Given the description of an element on the screen output the (x, y) to click on. 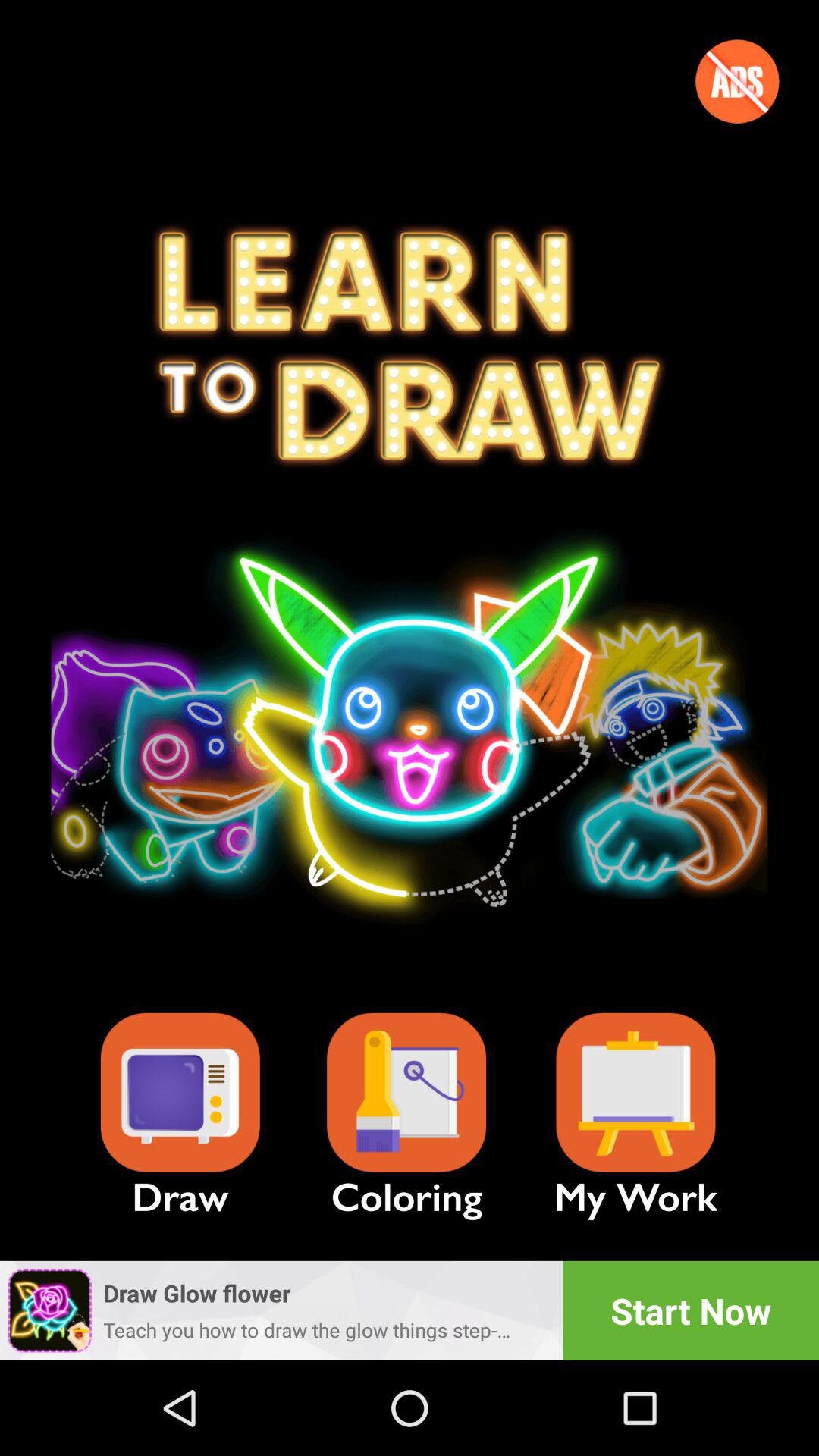
icon left to the text draw glow flower (49, 1310)
